Given the description of an element on the screen output the (x, y) to click on. 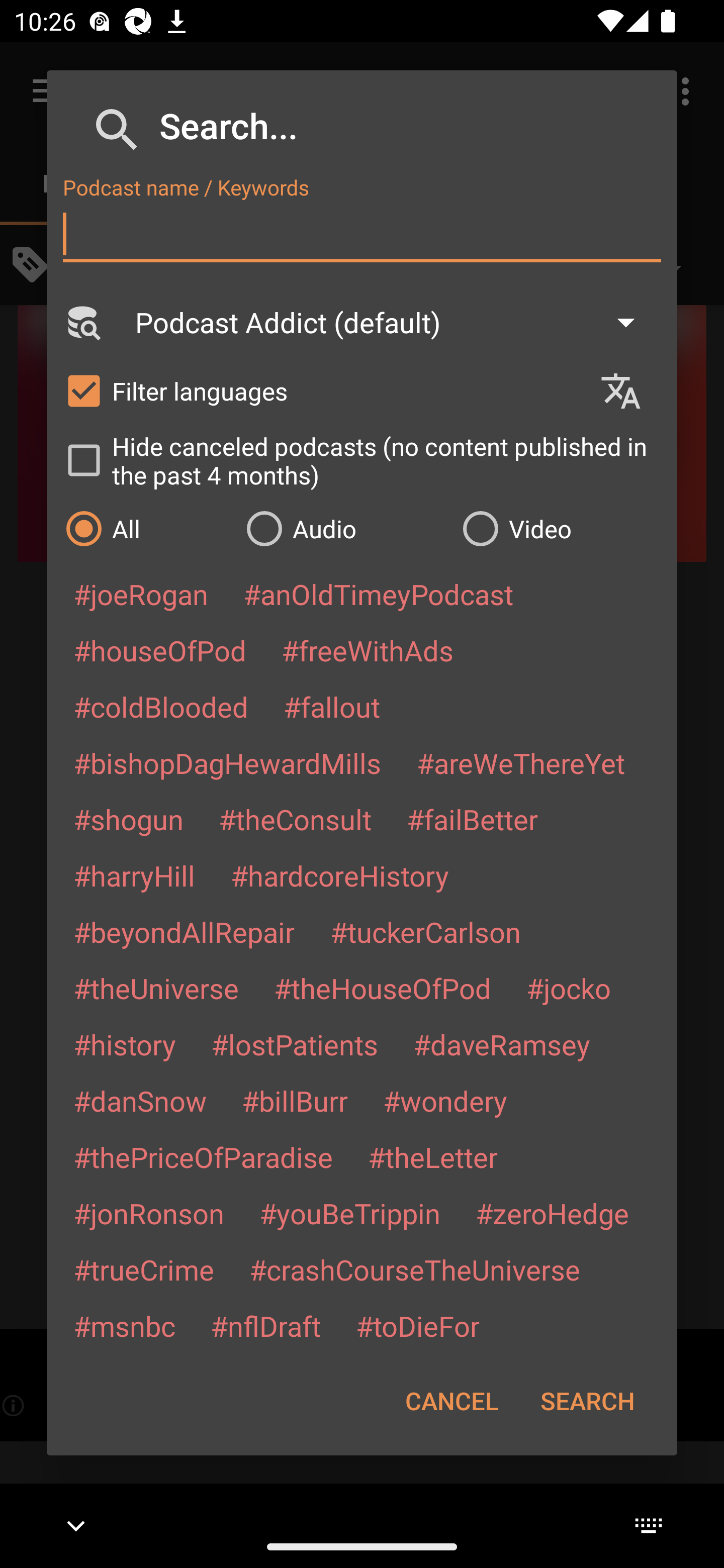
Podcast name / Keywords (361, 234)
Search Engine (82, 322)
Podcast Addict (default) (394, 322)
Languages selection (629, 390)
Filter languages (322, 390)
All (145, 528)
Audio (344, 528)
Video (560, 528)
#joeRogan (140, 594)
#anOldTimeyPodcast (378, 594)
#houseOfPod (159, 650)
#freeWithAds (367, 650)
#coldBlooded (160, 705)
#fallout (331, 705)
#bishopDagHewardMills (227, 762)
#areWeThereYet (521, 762)
#shogun (128, 818)
#theConsult (294, 818)
#failBetter (471, 818)
#harryHill (134, 875)
#hardcoreHistory (339, 875)
#beyondAllRepair (184, 931)
#tuckerCarlson (425, 931)
#theUniverse (155, 987)
#theHouseOfPod (381, 987)
#jocko (568, 987)
#history (124, 1044)
#lostPatients (294, 1044)
#daveRamsey (501, 1044)
#danSnow (139, 1100)
#billBurr (294, 1100)
#wondery (444, 1100)
#thePriceOfParadise (203, 1157)
#theLetter (432, 1157)
#jonRonson (148, 1213)
#youBeTrippin (349, 1213)
#zeroHedge (552, 1213)
#trueCrime (143, 1268)
#crashCourseTheUniverse (414, 1268)
#msnbc (124, 1325)
#nflDraft (265, 1325)
#toDieFor (417, 1325)
CANCEL (451, 1400)
SEARCH (587, 1400)
